Given the description of an element on the screen output the (x, y) to click on. 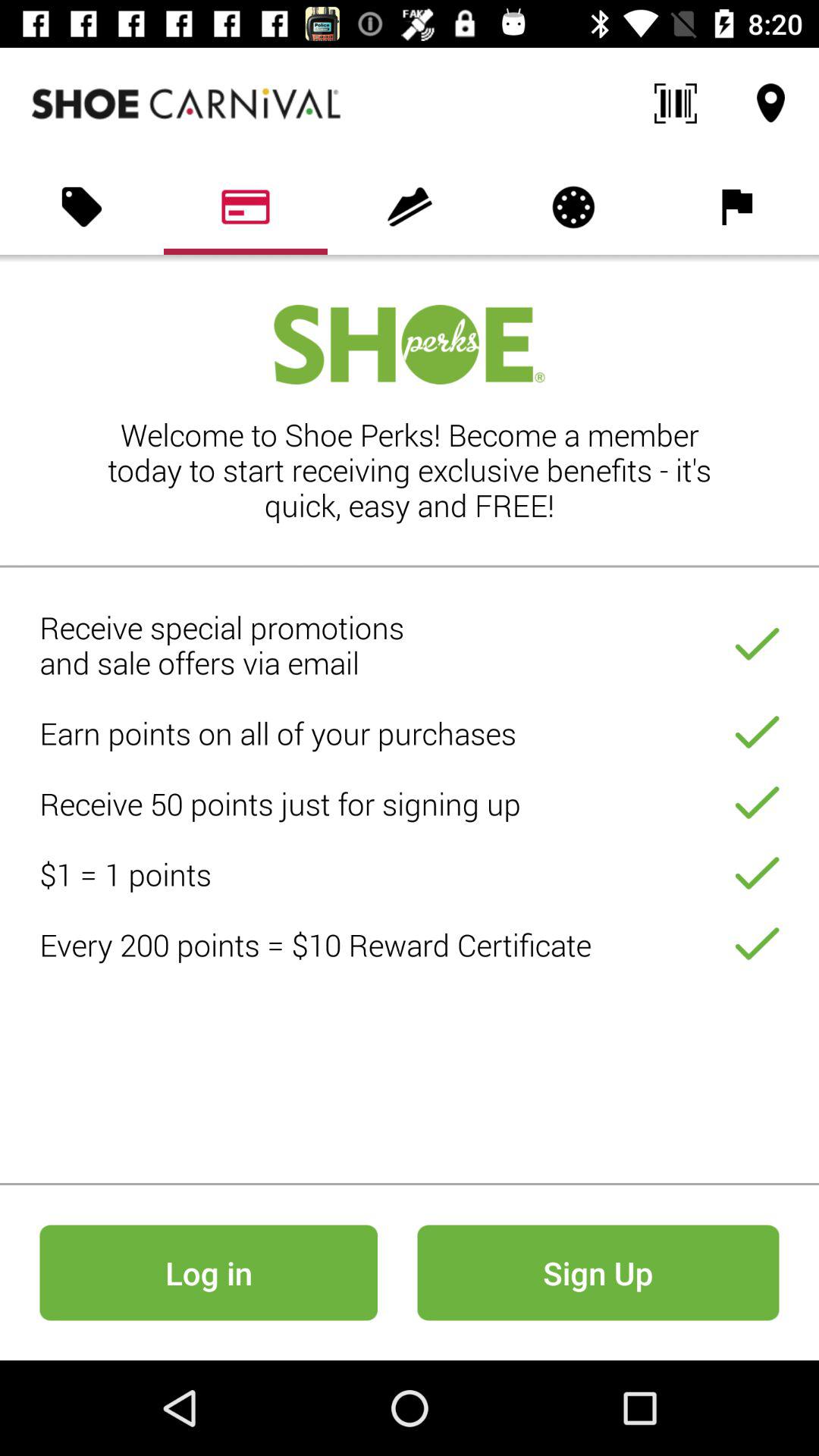
click on location icon which is below 820 (771, 103)
icon before flag icon below qr code icon (573, 207)
select the button which is to the right side of the login (598, 1272)
click on tag icon (82, 207)
